Given the description of an element on the screen output the (x, y) to click on. 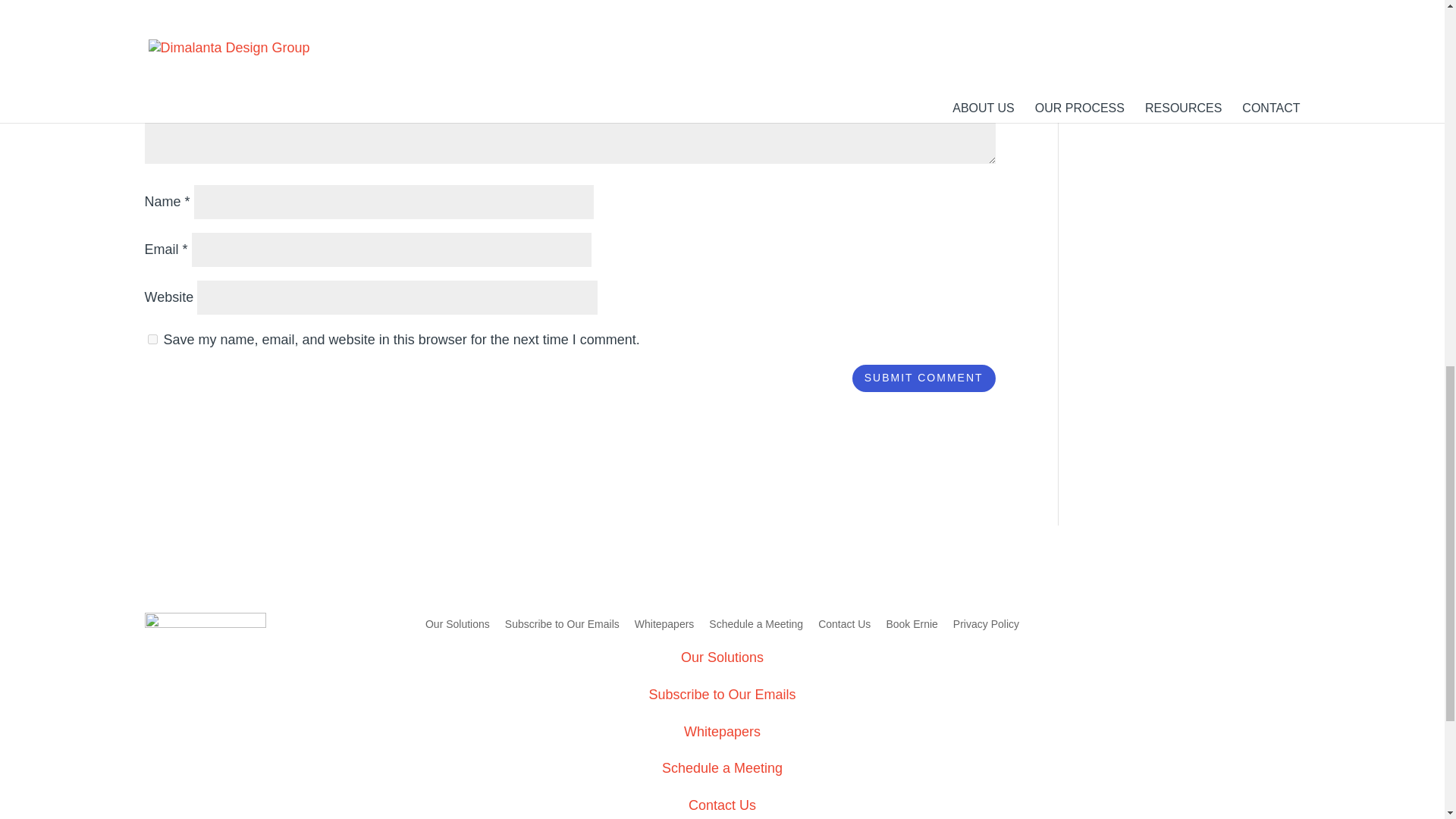
DDG0-logo-white (204, 661)
yes (152, 338)
Subscribe to Our Emails (562, 624)
Whitepapers (664, 624)
Privacy Policy (985, 624)
Submit Comment (923, 378)
Follow on LinkedIn (1168, 624)
Follow on Instagram (1199, 624)
Book Ernie (910, 624)
Submit Comment (923, 378)
